Given the description of an element on the screen output the (x, y) to click on. 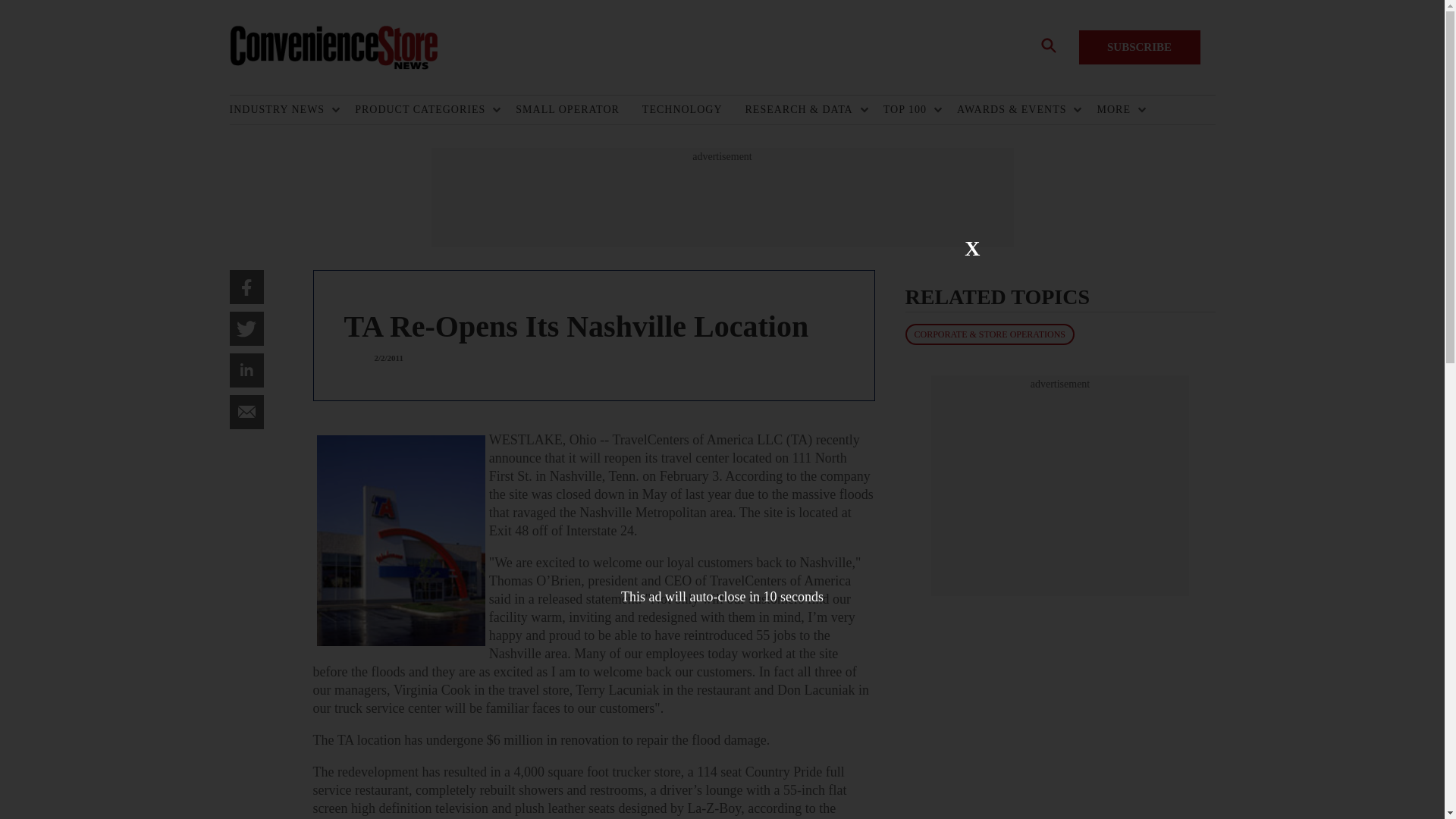
SMALL OPERATOR (578, 109)
PRODUCT CATEGORIES (424, 109)
3rd party ad content (1059, 485)
facebook (245, 286)
SUBSCRIBE (1138, 47)
TECHNOLOGY (693, 109)
TOP 100 (908, 109)
twitter (245, 328)
linkedIn (245, 369)
